Given the description of an element on the screen output the (x, y) to click on. 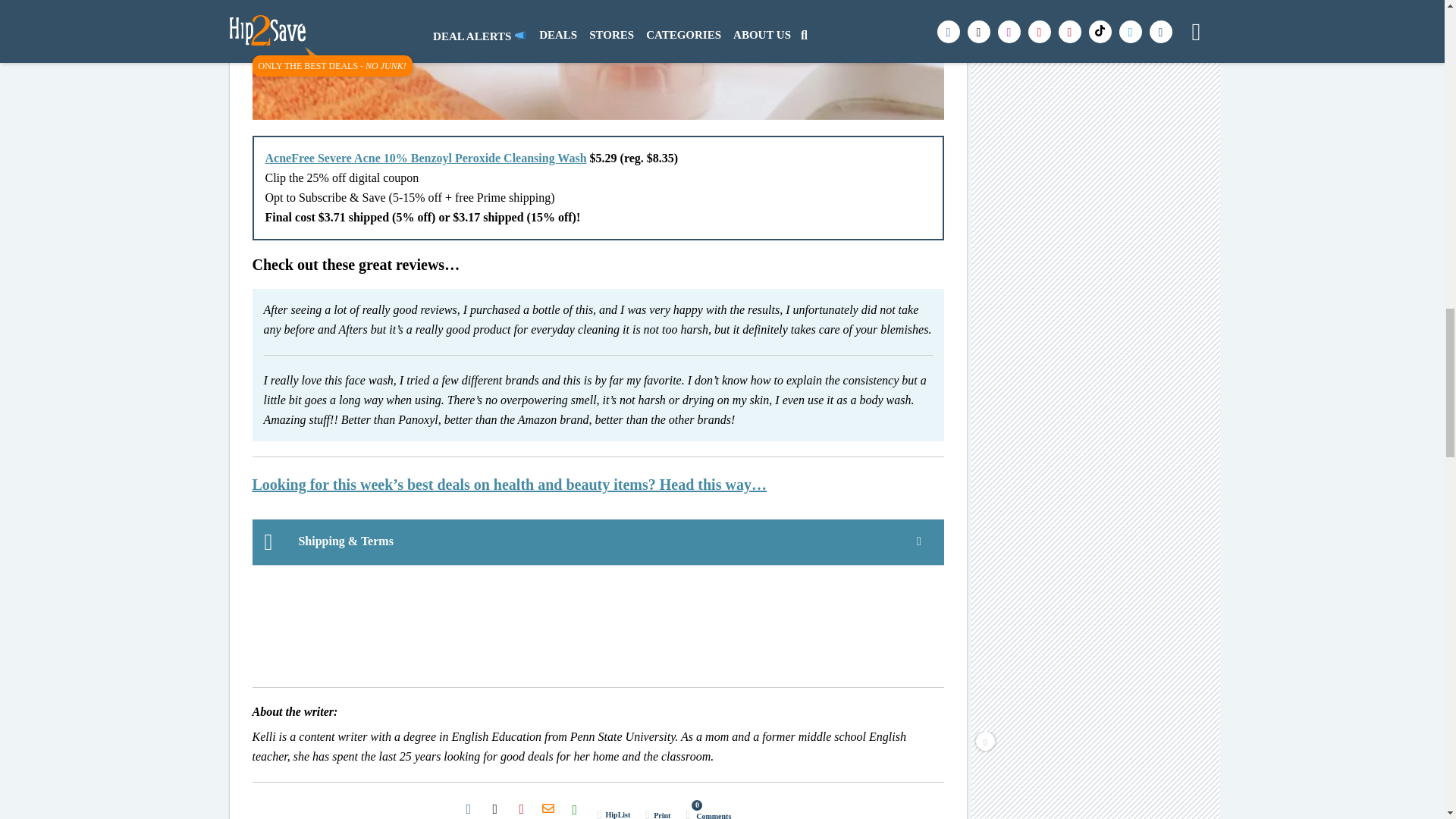
Click to share on X (494, 808)
Click to share on Facebook (467, 808)
Click to share on Pinterest (521, 808)
Click to share on SMS (574, 808)
Click to share on H2S Email (547, 808)
